Given the description of an element on the screen output the (x, y) to click on. 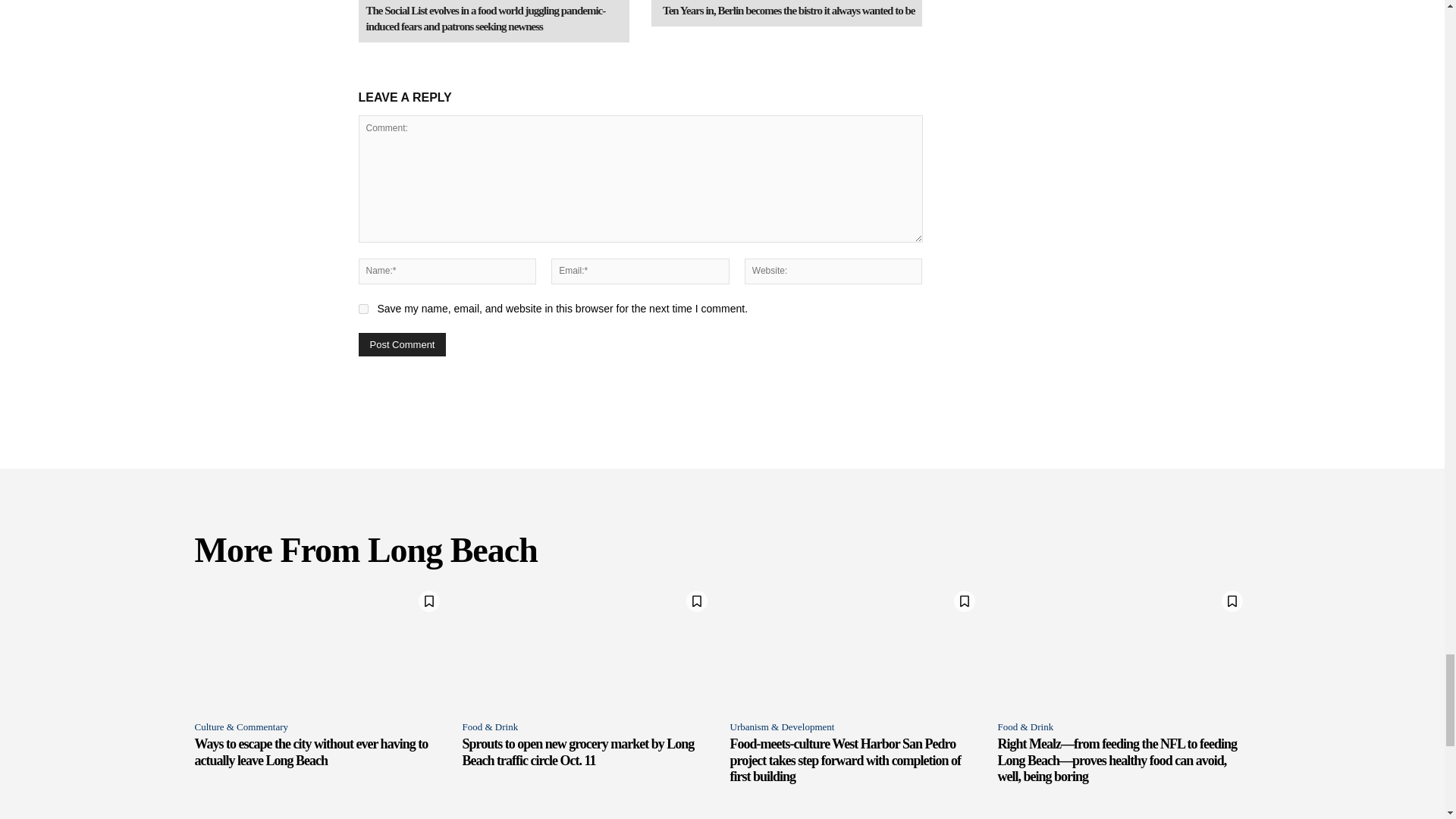
yes (363, 308)
Post Comment (401, 344)
